Given the description of an element on the screen output the (x, y) to click on. 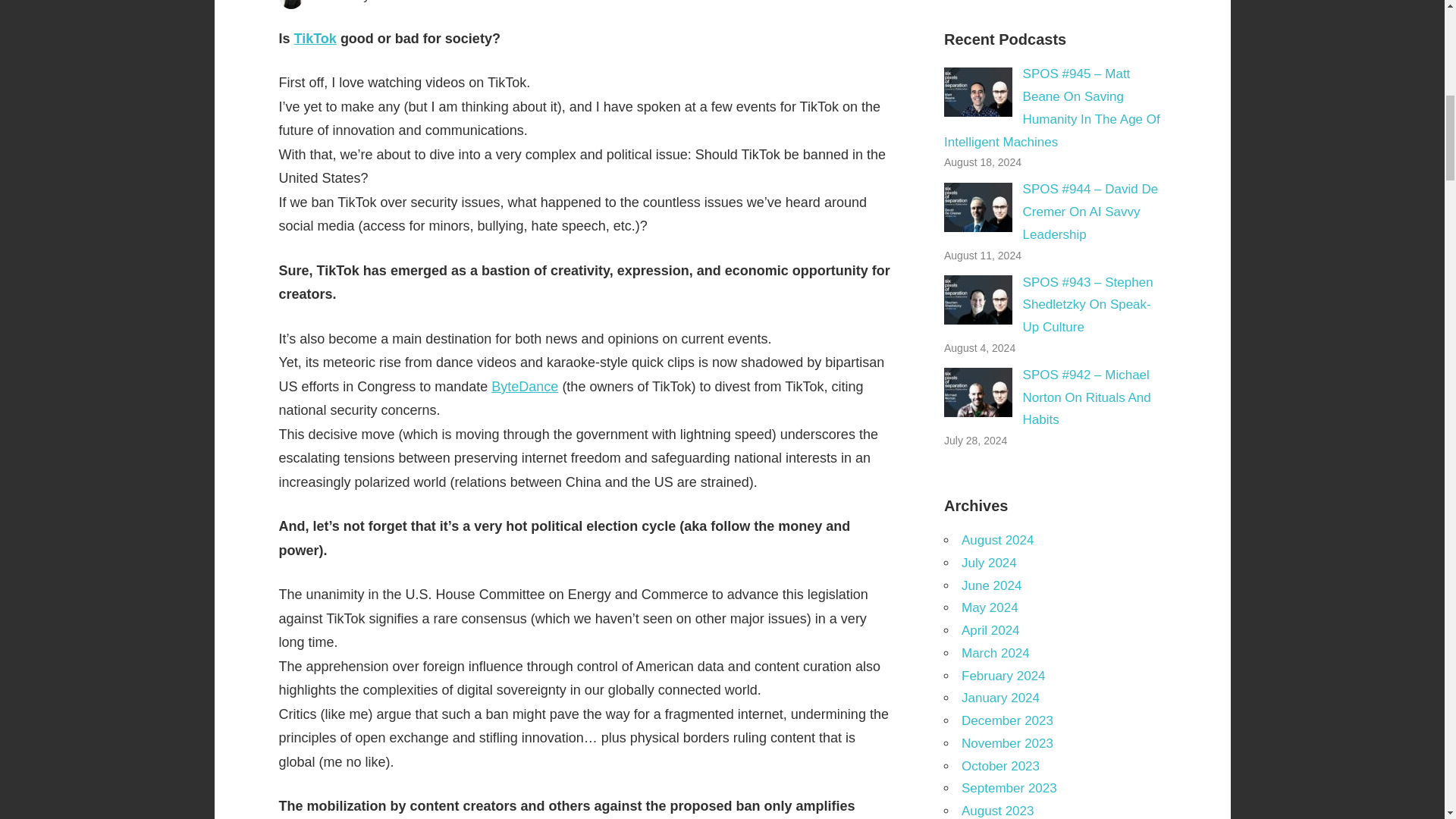
Mitch Joel (403, 1)
TikTok (315, 38)
View all posts by Mitch Joel (403, 1)
ByteDance (524, 386)
